Given the description of an element on the screen output the (x, y) to click on. 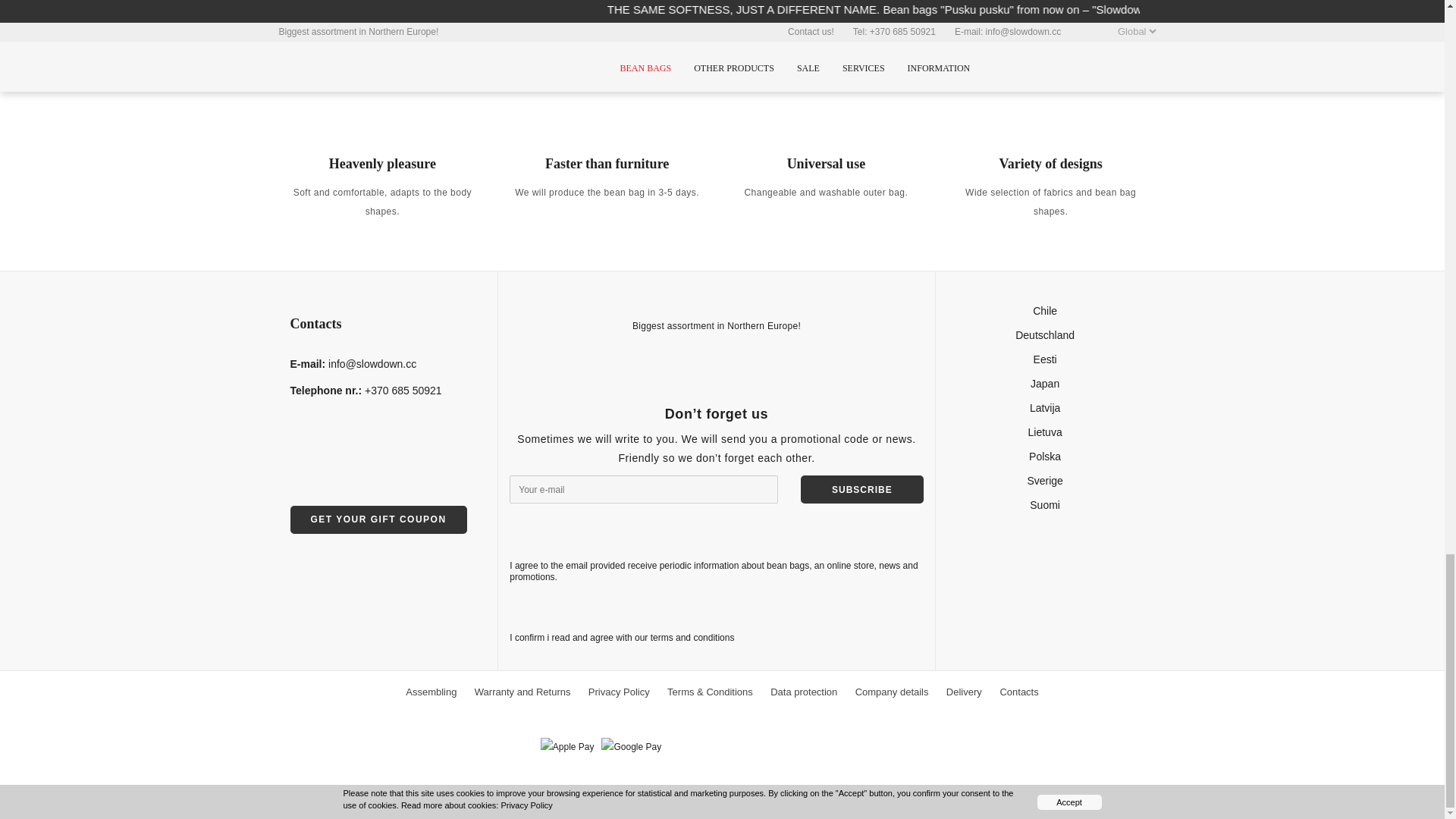
Subscribe (861, 489)
